Given the description of an element on the screen output the (x, y) to click on. 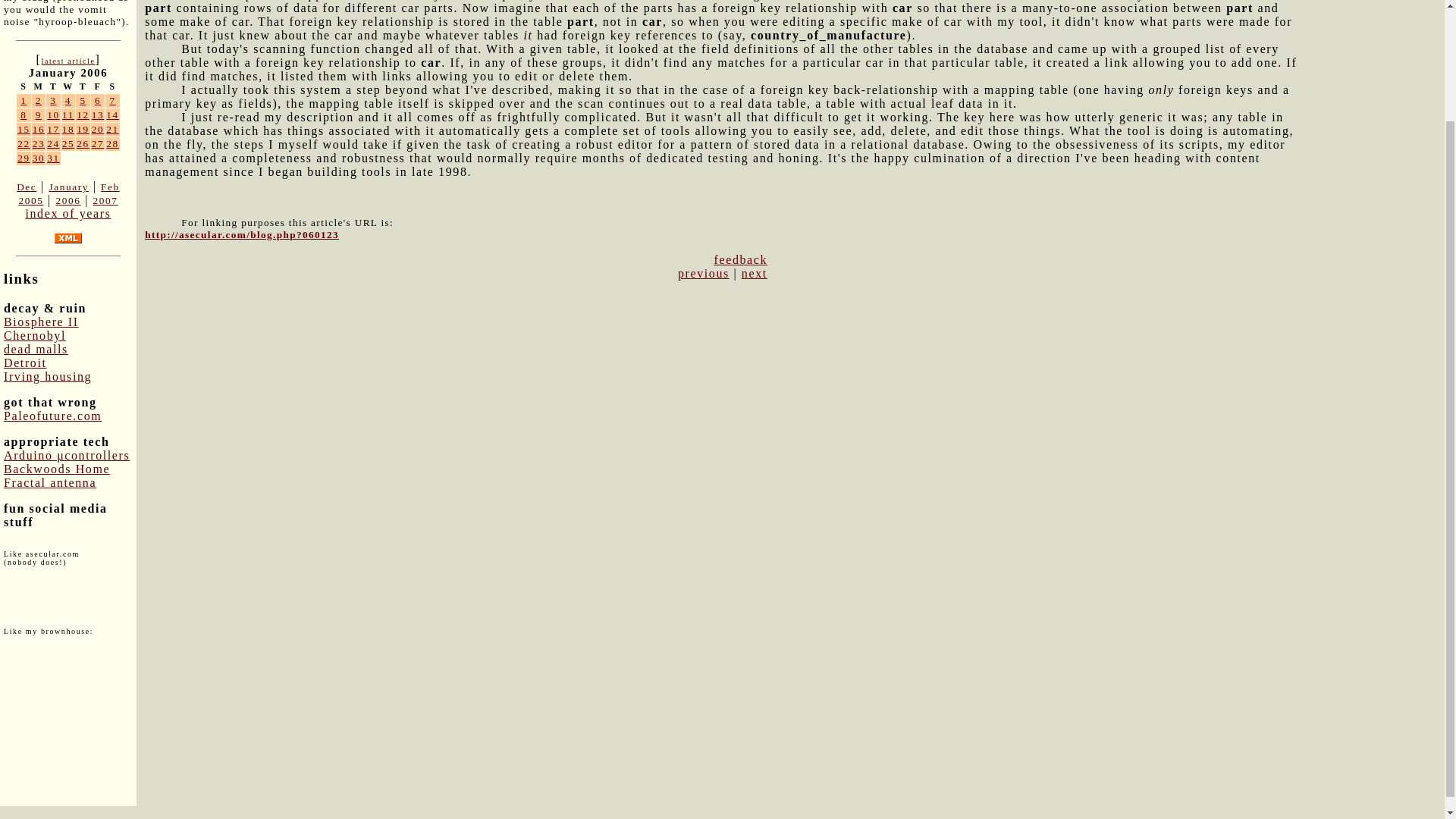
15 (23, 129)
2007 (105, 200)
22 (23, 143)
17 (52, 129)
January (68, 186)
2006 (67, 200)
Feb (109, 186)
16 (38, 129)
31 (52, 157)
24 (52, 143)
